Given the description of an element on the screen output the (x, y) to click on. 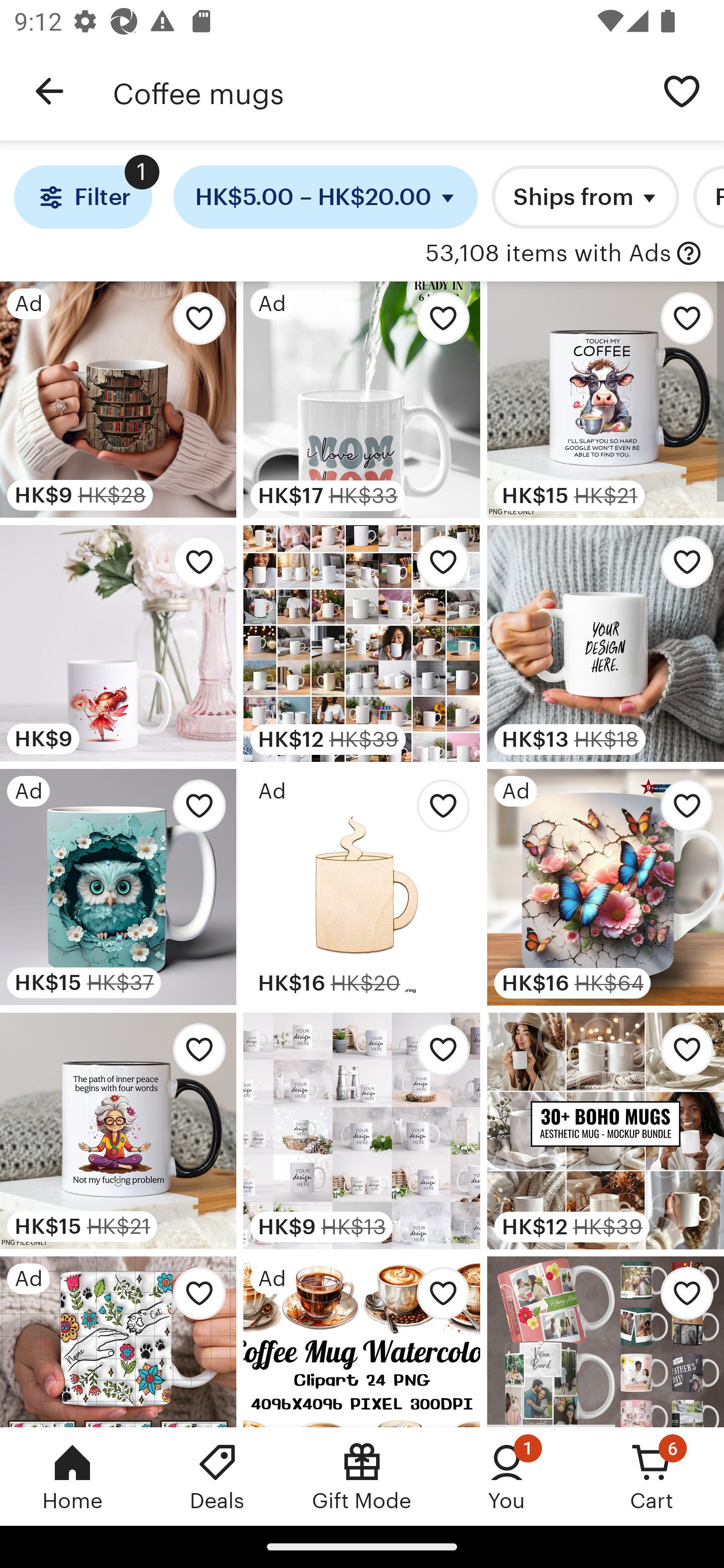
Navigate up (49, 91)
Save search (681, 90)
Coffee mugs (375, 91)
Filter (82, 197)
HK$5.00 – HK$20.00 (325, 197)
Ships from (585, 197)
53,108 items with Ads (548, 253)
with Ads (688, 253)
Deals (216, 1475)
Gift Mode (361, 1475)
You, 1 new notification You (506, 1475)
Cart, 6 new notifications Cart (651, 1475)
